Given the description of an element on the screen output the (x, y) to click on. 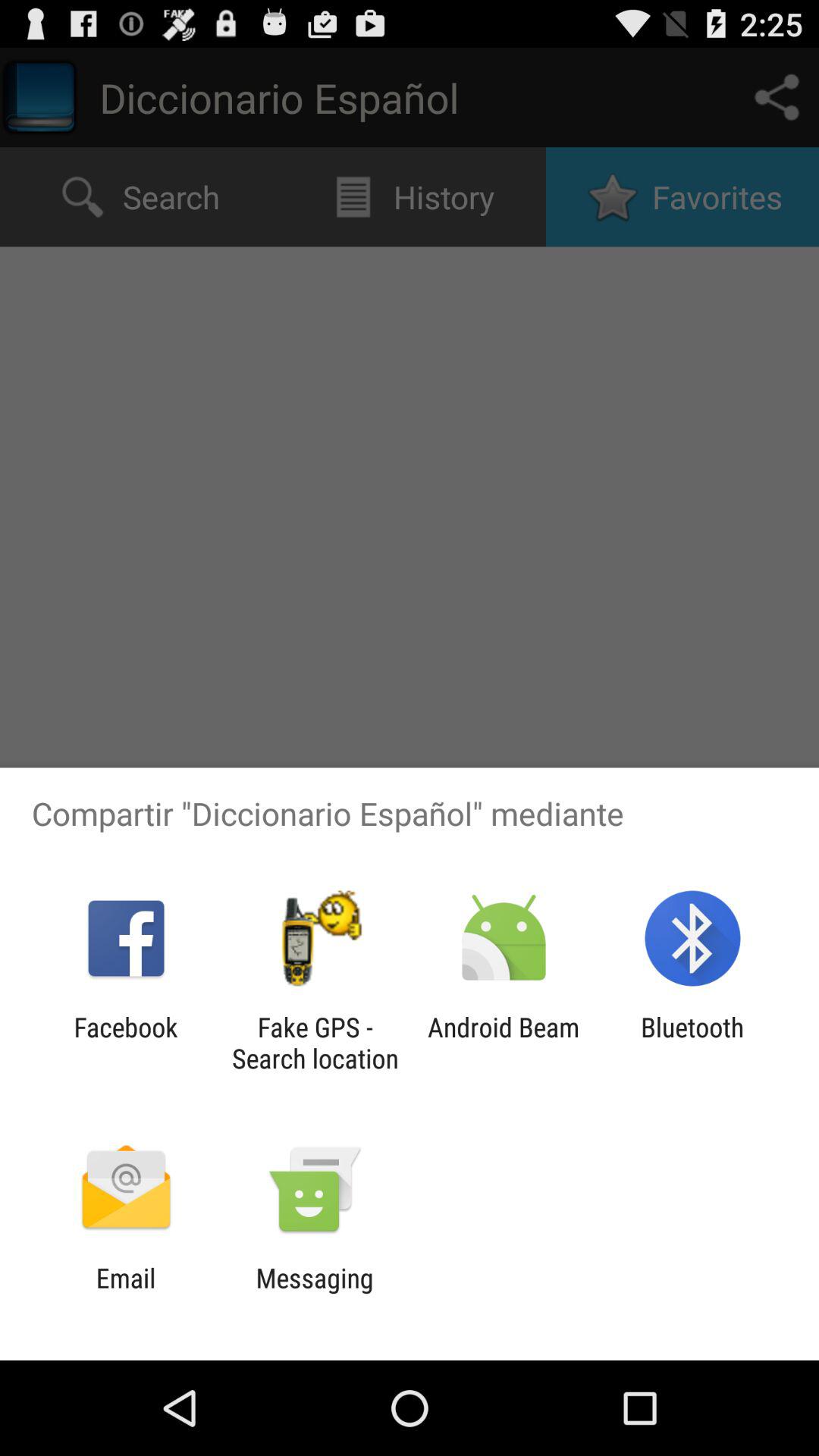
turn off item next to the fake gps search (503, 1042)
